Given the description of an element on the screen output the (x, y) to click on. 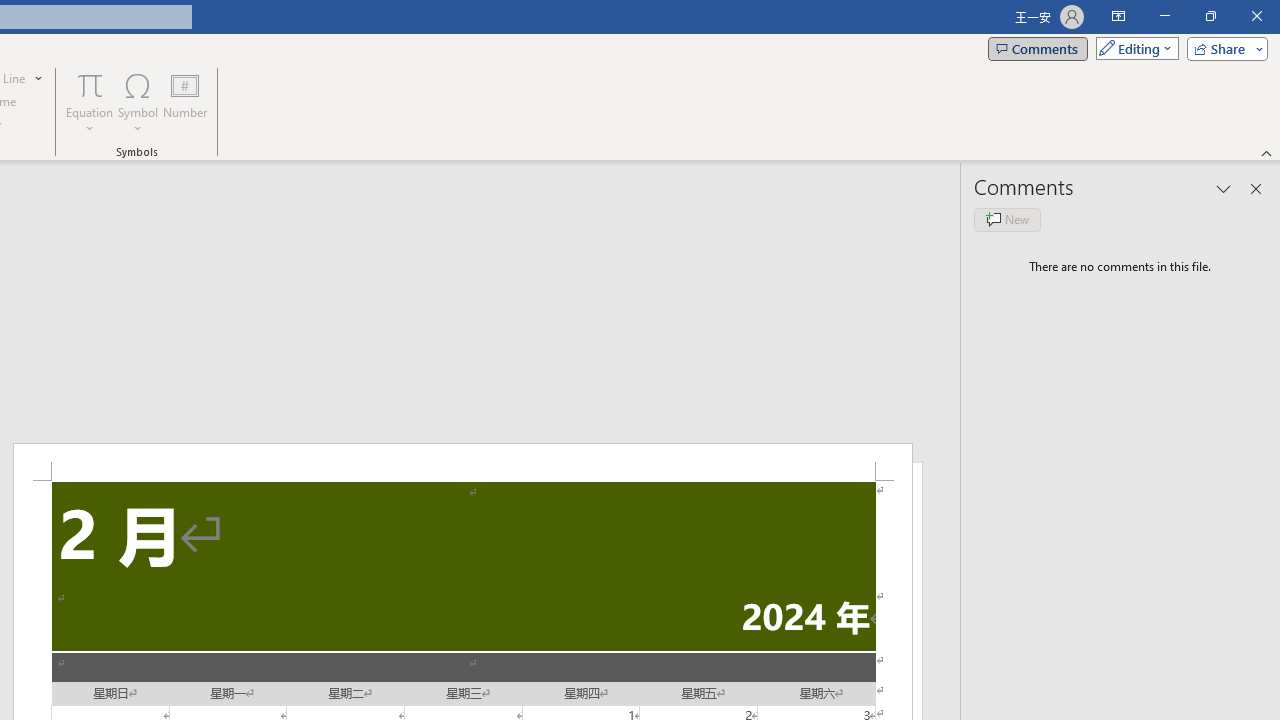
Equation (90, 84)
Task Pane Options (1224, 188)
